Given the description of an element on the screen output the (x, y) to click on. 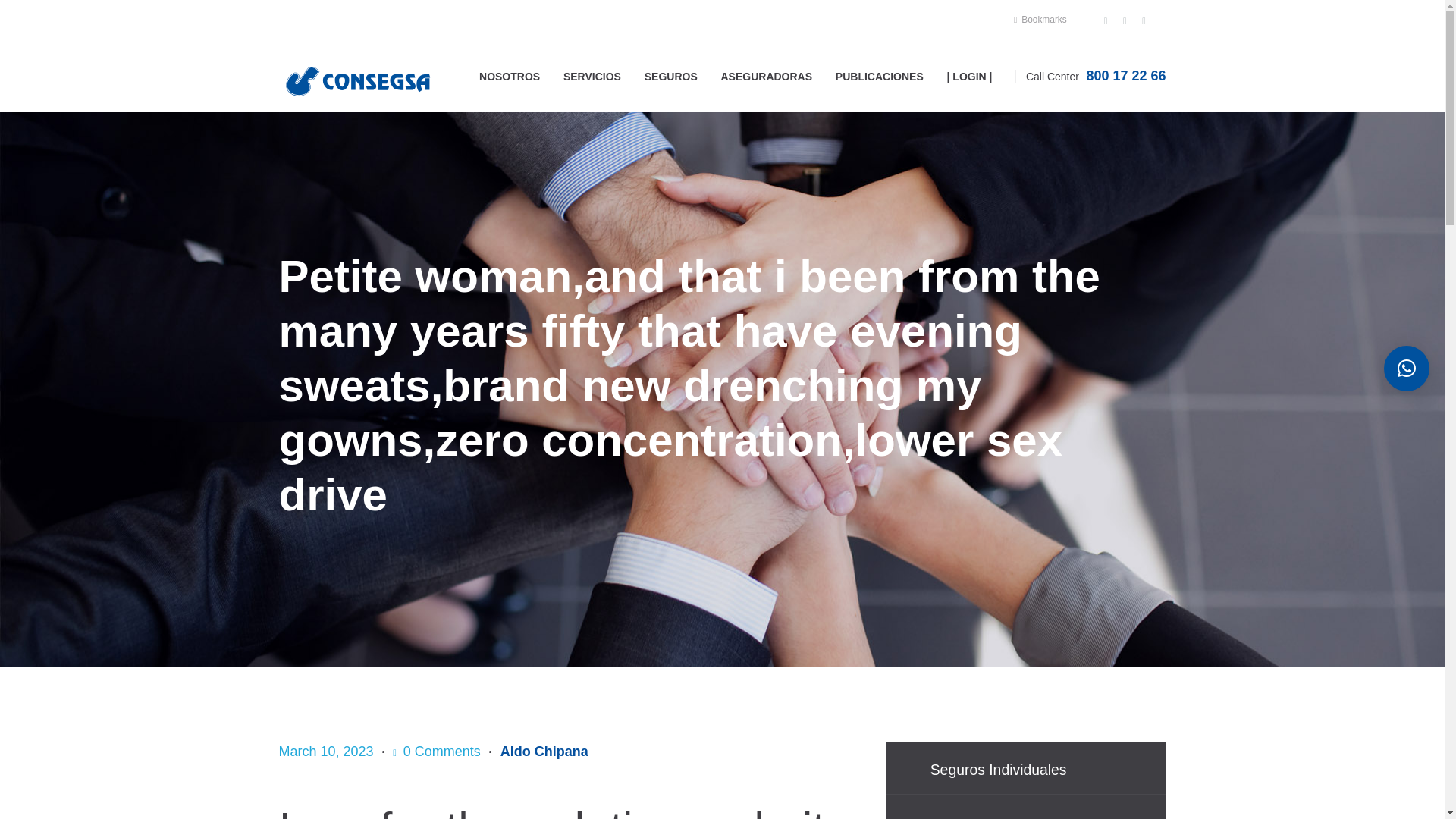
NOSOTROS (509, 76)
Bookmarks (1040, 19)
Show bookmarks (1040, 19)
Comments - 0 (436, 752)
800 17 22 66 (1126, 75)
ASEGURADORAS (766, 76)
PUBLICACIONES (879, 76)
SEGUROS (670, 76)
SERVICIOS (592, 76)
